Given the description of an element on the screen output the (x, y) to click on. 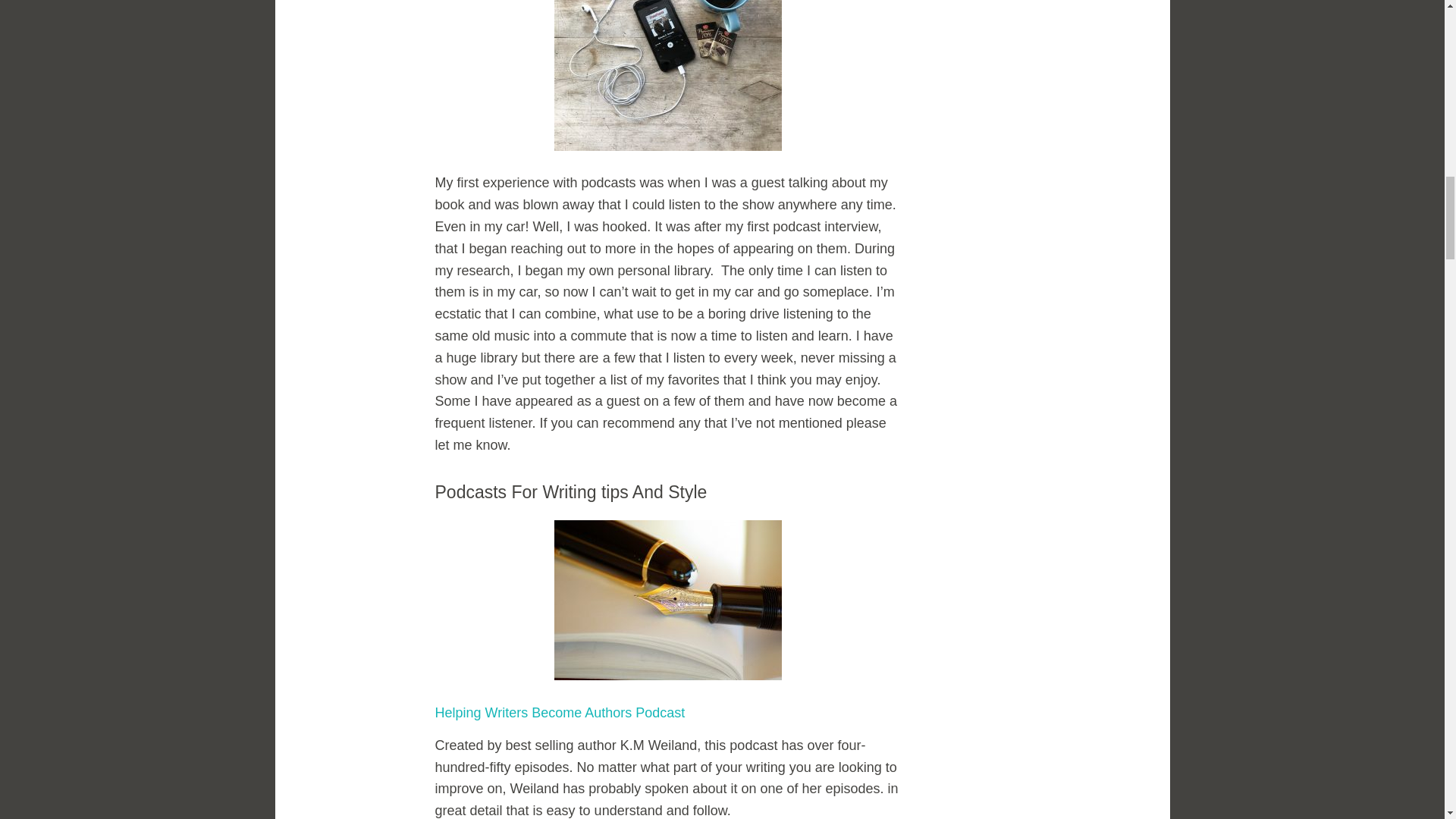
Helping Writers Become Authors Podcast (560, 712)
